Given the description of an element on the screen output the (x, y) to click on. 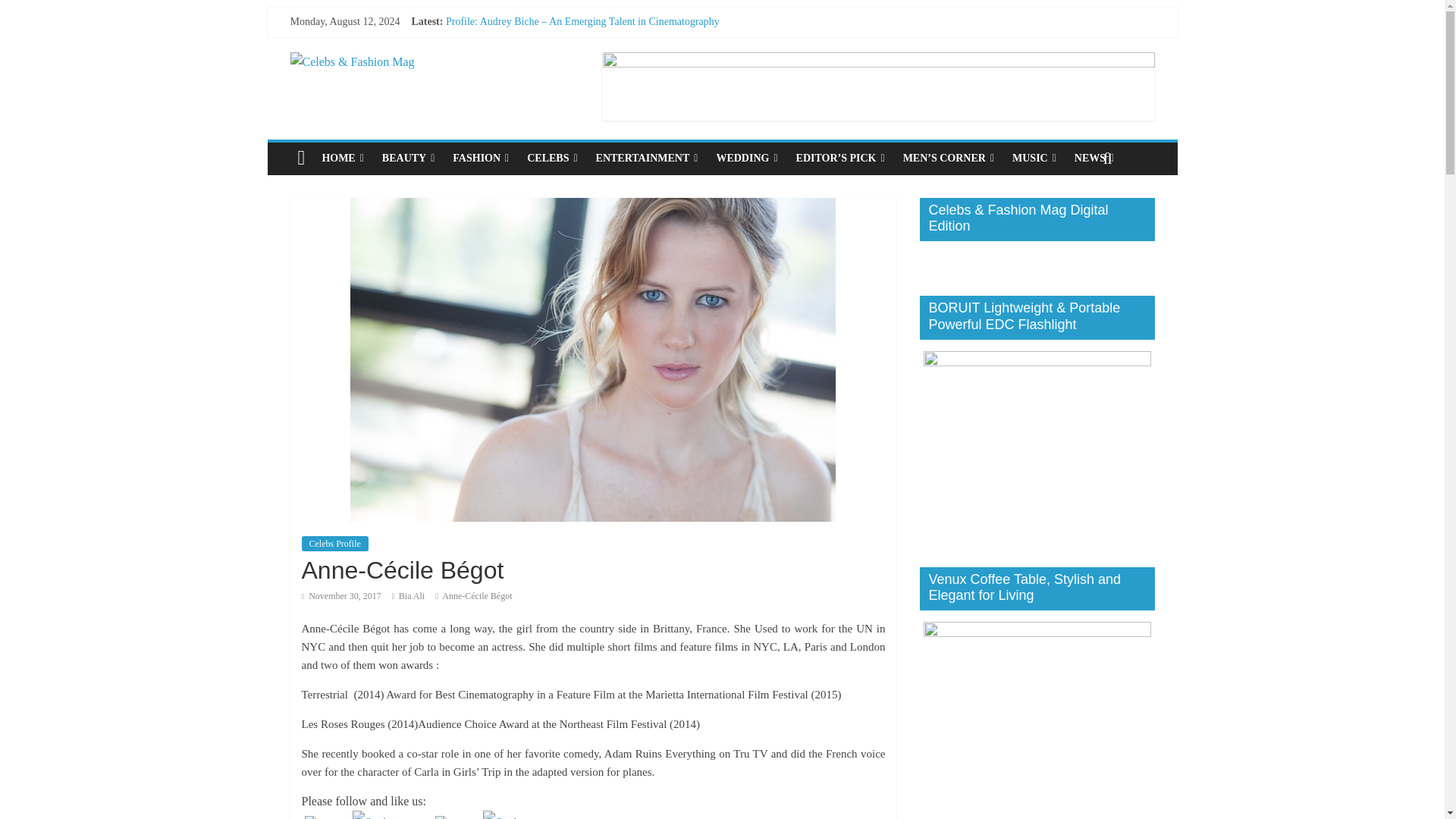
 4 Things to Do After a DUI Charge (521, 55)
An Interview With Madd Reign Entertainment Artist Persona (575, 89)
BEAUTY (408, 158)
HOME (342, 158)
CELEBS (552, 158)
Facebook Share (390, 814)
Pin Share (521, 814)
Bia Ali (411, 595)
